Given the description of an element on the screen output the (x, y) to click on. 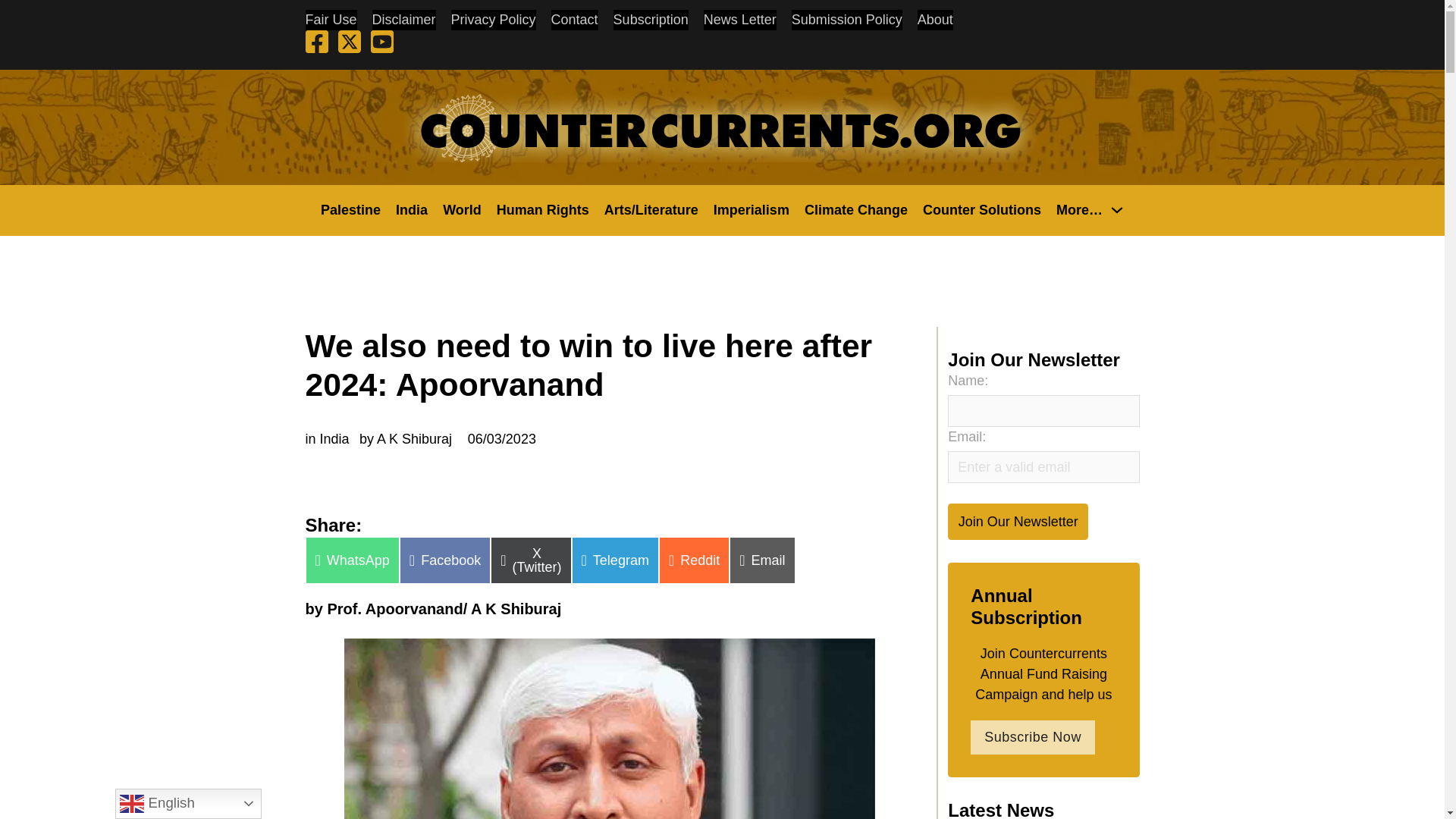
Palestine (350, 209)
Submission Policy (847, 19)
Privacy Policy (493, 19)
About (935, 19)
News Letter (739, 19)
Counter Solutions (982, 209)
We also need to win to live here after 2024: Apoorvanand 2 (609, 728)
Subscription (650, 19)
Contact (574, 19)
Climate Change (856, 209)
Disclaimer (403, 19)
World (461, 209)
Join Our Newsletter (1017, 520)
Human Rights (542, 209)
India (412, 209)
